Given the description of an element on the screen output the (x, y) to click on. 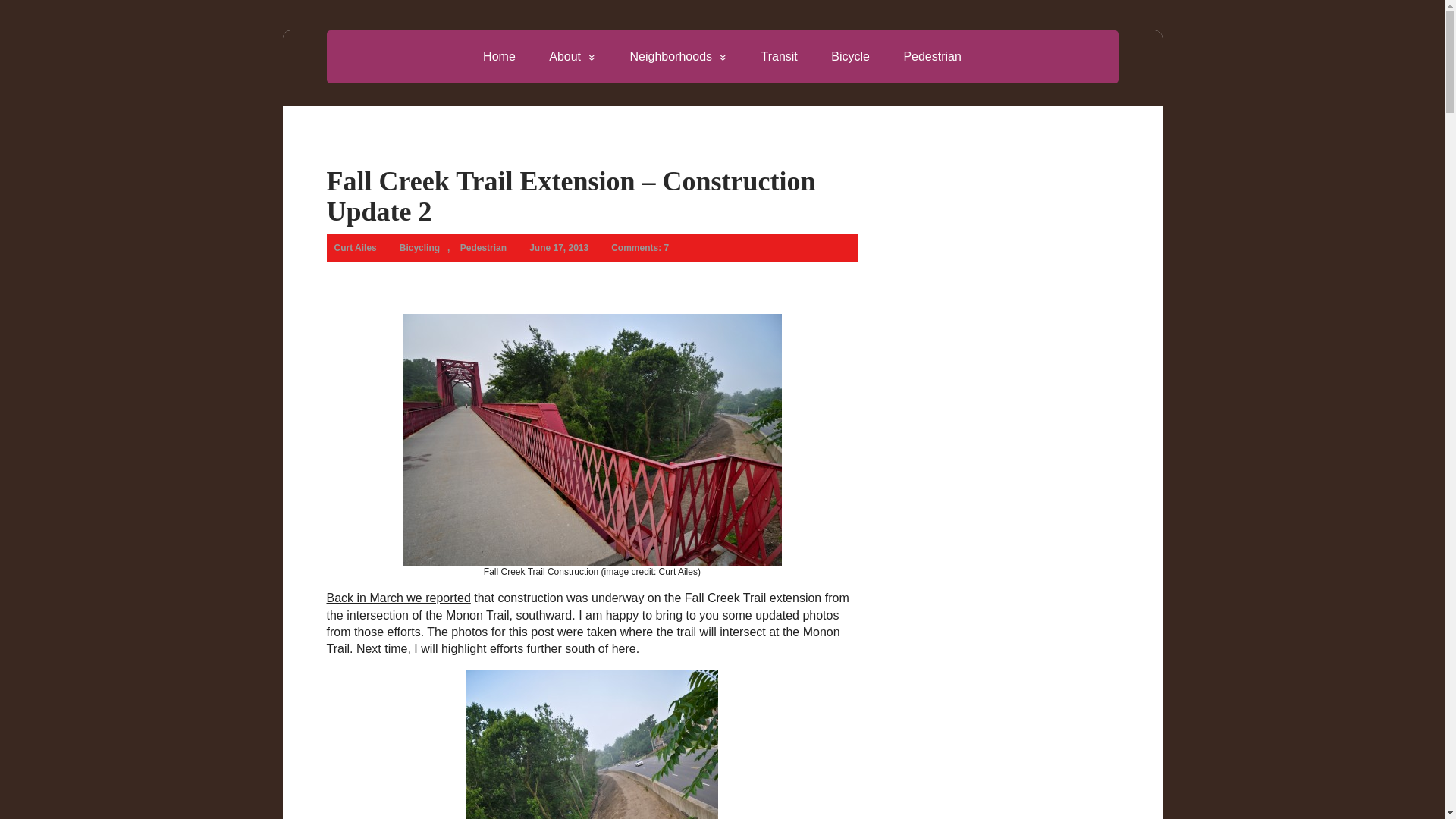
Transit (778, 56)
Bicycling (418, 248)
About (572, 56)
Pedestrian (932, 56)
Pedestrian (482, 248)
Bicycle (850, 56)
Comments: 7 (640, 248)
Neighborhoods (678, 56)
Home (499, 56)
Back in March we reported (398, 597)
